Given the description of an element on the screen output the (x, y) to click on. 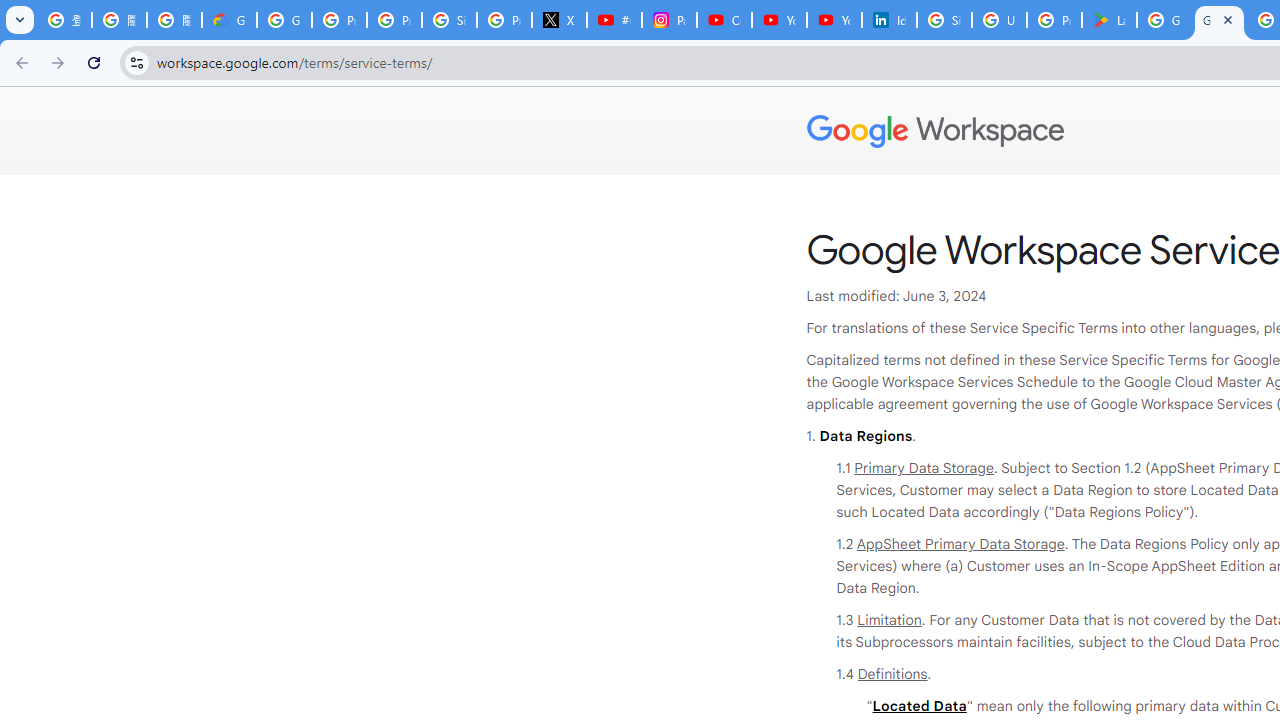
Privacy Help Center - Policies Help (394, 20)
Google Cloud Privacy Notice (229, 20)
Sign in - Google Accounts (943, 20)
Sign in - Google Accounts (449, 20)
Last Shelter: Survival - Apps on Google Play (1108, 20)
